Given the description of an element on the screen output the (x, y) to click on. 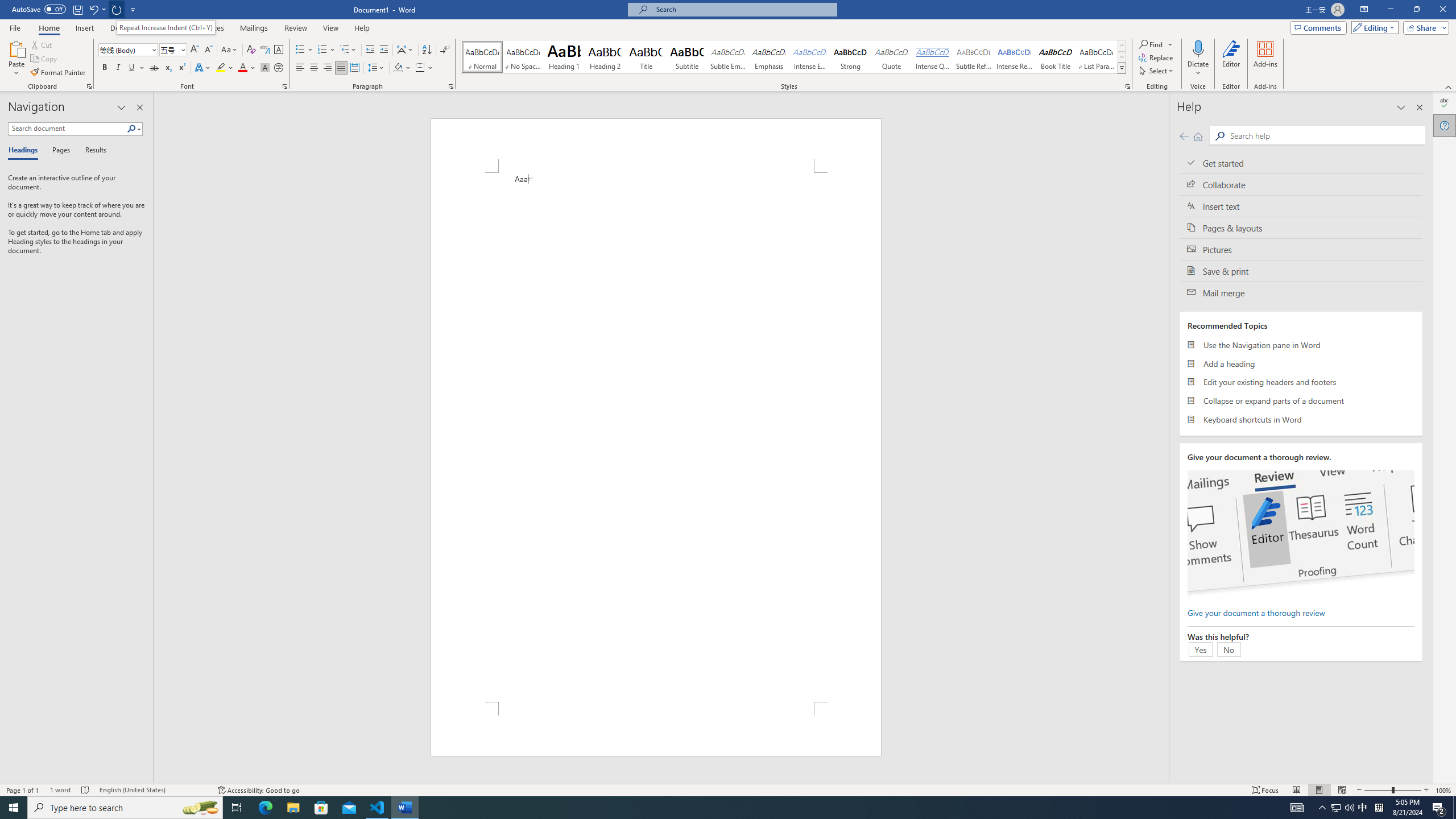
Undo Increase Indent (96, 9)
